Given the description of an element on the screen output the (x, y) to click on. 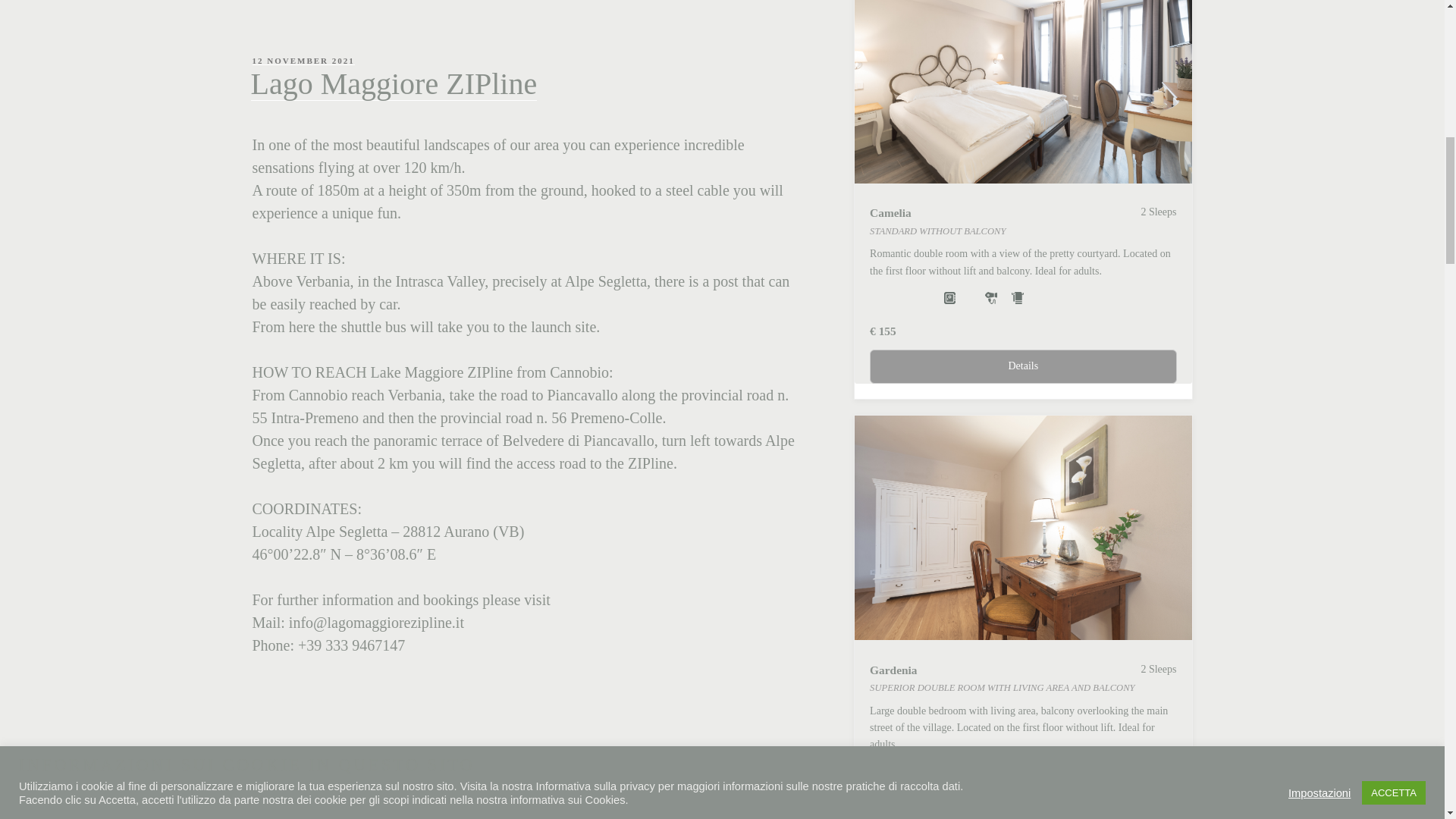
HAIR DRYER (991, 771)
COMPLEMENTARY KIT (1017, 771)
12 NOVEMBER 2021 (302, 60)
Details (1022, 366)
BALCONY (1090, 771)
SAFEBOARD (949, 771)
Gardenia (1022, 527)
Lago Maggiore ZIPline (393, 83)
SAFEBOARD (949, 297)
COMPLEMENTARY KIT (1017, 297)
Camelia (1022, 91)
HAIR DRYER (991, 297)
